Given the description of an element on the screen output the (x, y) to click on. 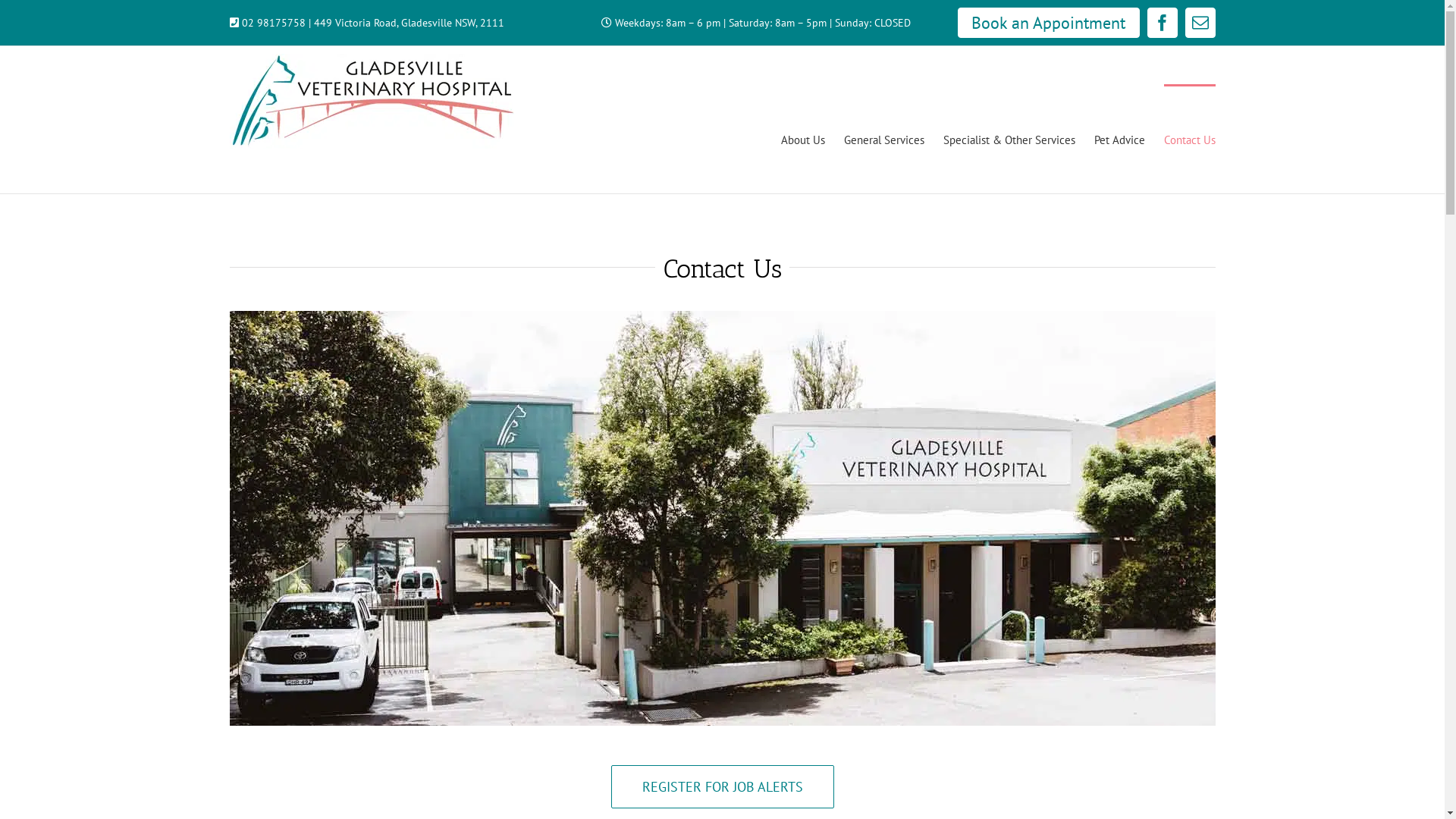
About Us Element type: text (803, 138)
Specialist & Other Services Element type: text (1009, 138)
02 98175758 Element type: text (272, 22)
Pet Advice Element type: text (1118, 138)
449 Victoria Road, Gladesville NSW, 2111 Element type: text (408, 22)
Book an Appointment Element type: text (1048, 22)
Facebook Element type: text (1161, 22)
Email Element type: text (1199, 22)
contact-us_header_image Element type: hover (721, 517)
General Services Element type: text (883, 138)
Contact Us Element type: text (1188, 138)
REGISTER FOR JOB ALERTS Element type: text (722, 786)
